Given the description of an element on the screen output the (x, y) to click on. 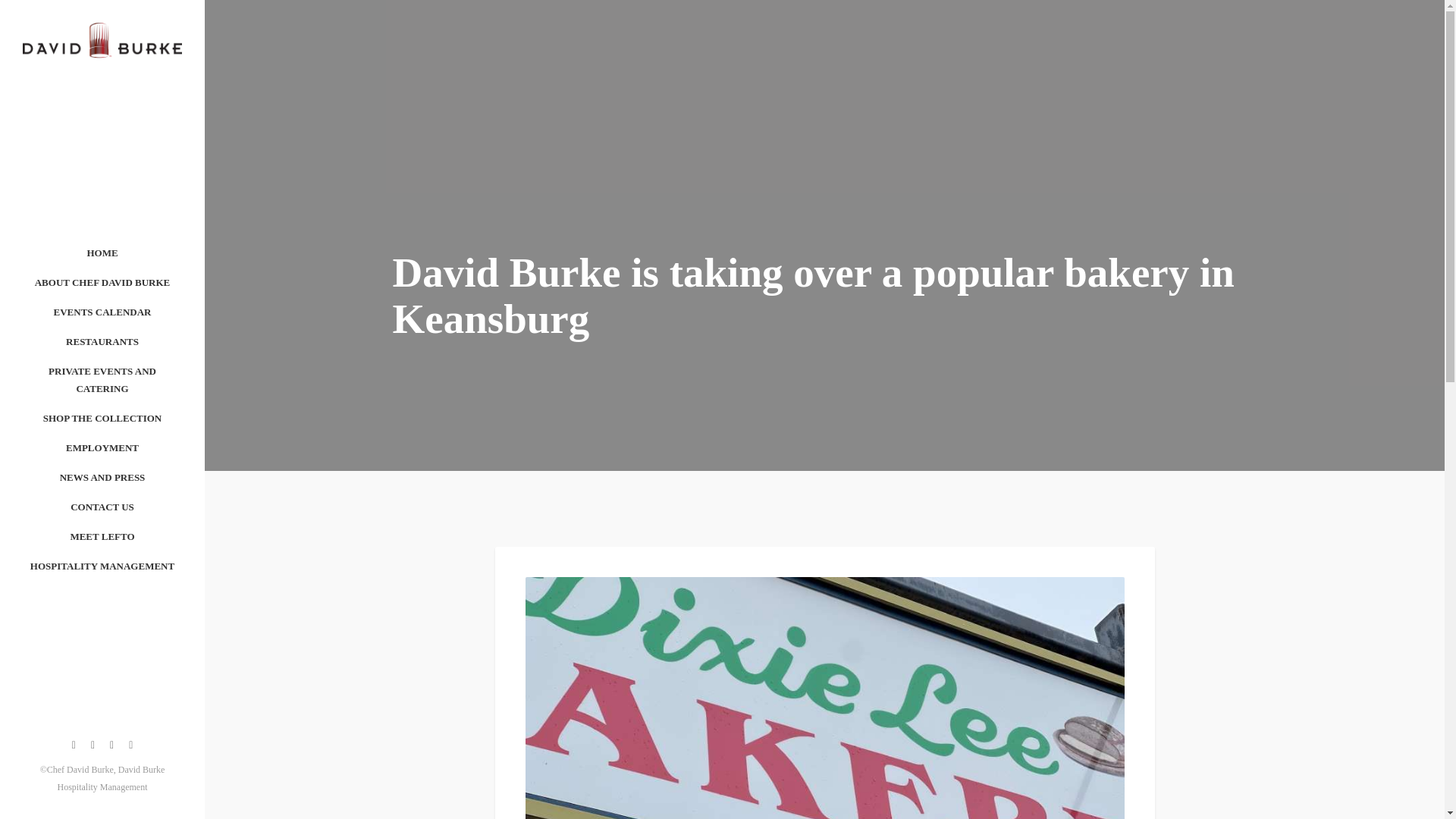
PRIVATE EVENTS AND CATERING (101, 379)
CONTACT US (101, 506)
HOSPITALITY MANAGEMENT (102, 565)
NEWS AND PRESS (102, 477)
HOME (101, 252)
ABOUT CHEF DAVID BURKE (102, 282)
SHOP THE COLLECTION (102, 418)
RESTAURANTS (101, 341)
EVENTS CALENDAR (102, 311)
EMPLOYMENT (101, 447)
MEET LEFTO (101, 536)
